Given the description of an element on the screen output the (x, y) to click on. 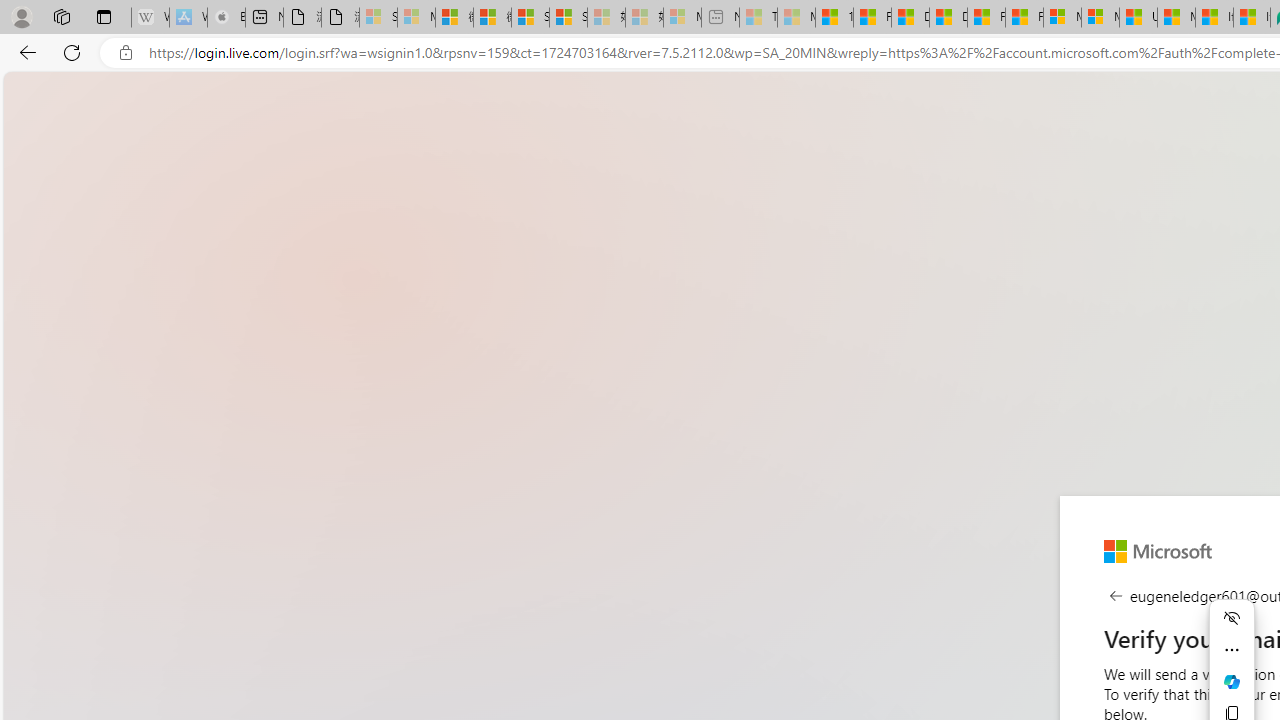
Top Stories - MSN - Sleeping (757, 17)
Ask Copilot (1231, 681)
Microsoft Services Agreement - Sleeping (416, 17)
Marine life - MSN - Sleeping (796, 17)
Foo BAR | Trusted Community Engagement and Contributions (1024, 17)
Hide menu (1231, 617)
Food and Drink - MSN (871, 17)
